Given the description of an element on the screen output the (x, y) to click on. 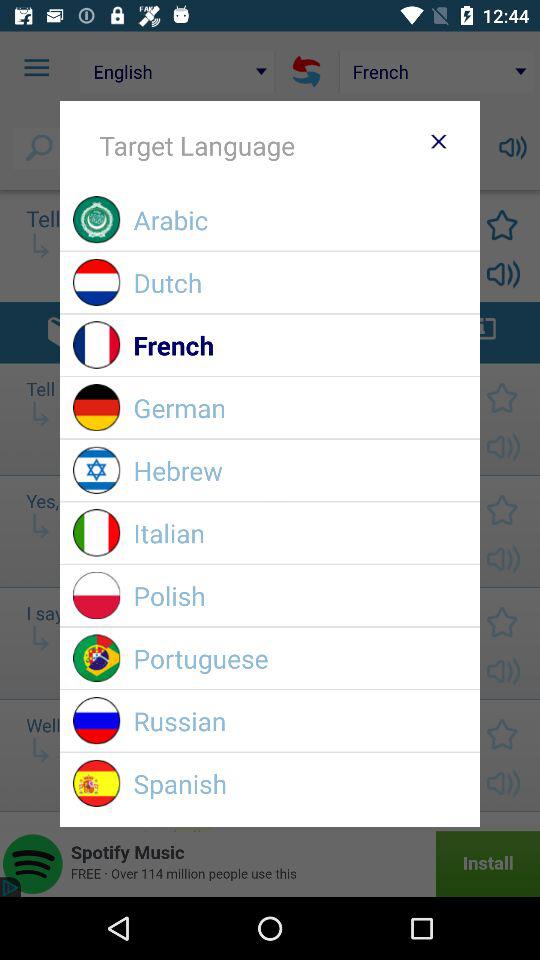
jump until the russian (300, 720)
